Given the description of an element on the screen output the (x, y) to click on. 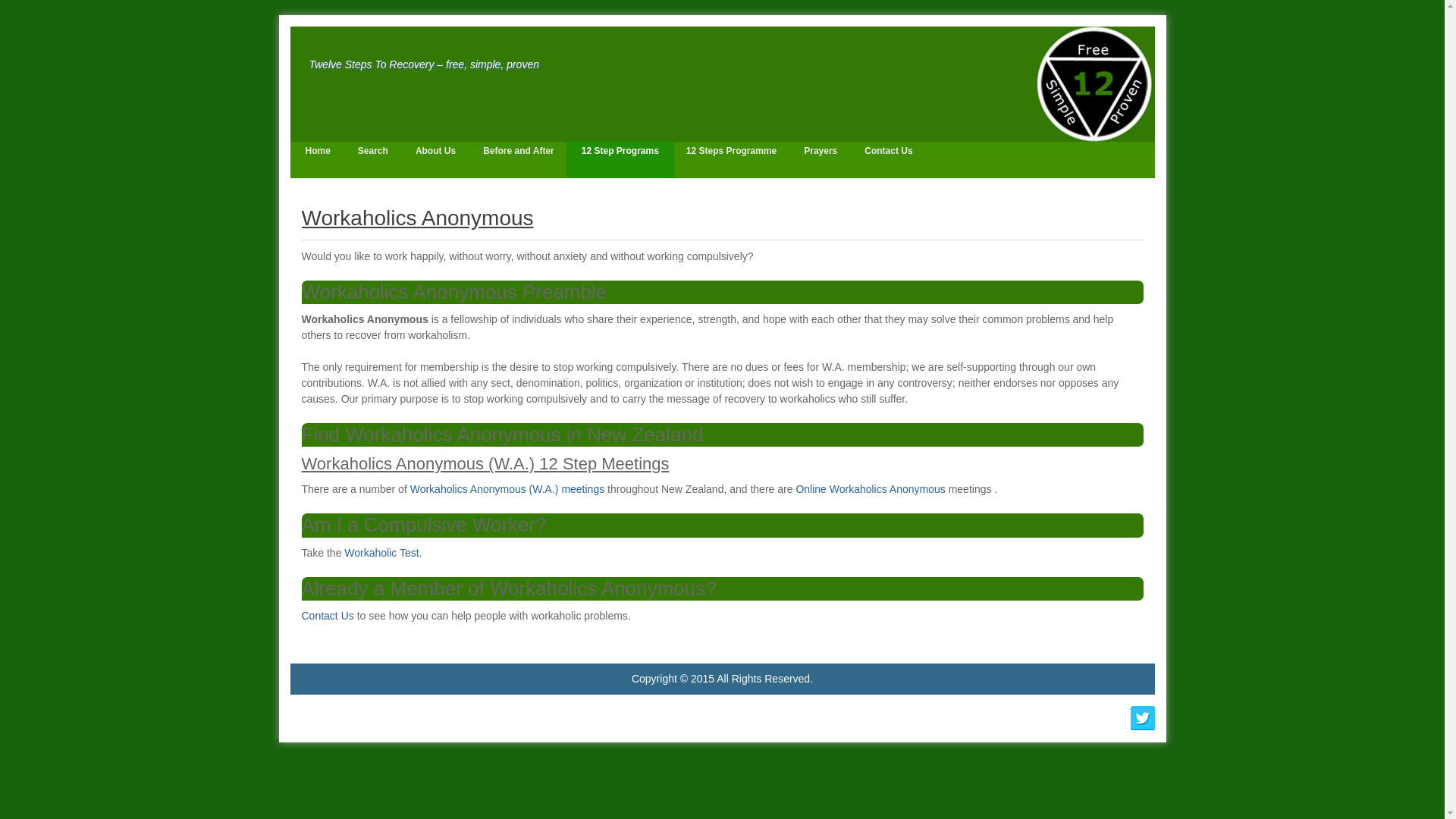
Search (372, 159)
Before and After (518, 159)
Home (317, 159)
About Us (435, 159)
